Given the description of an element on the screen output the (x, y) to click on. 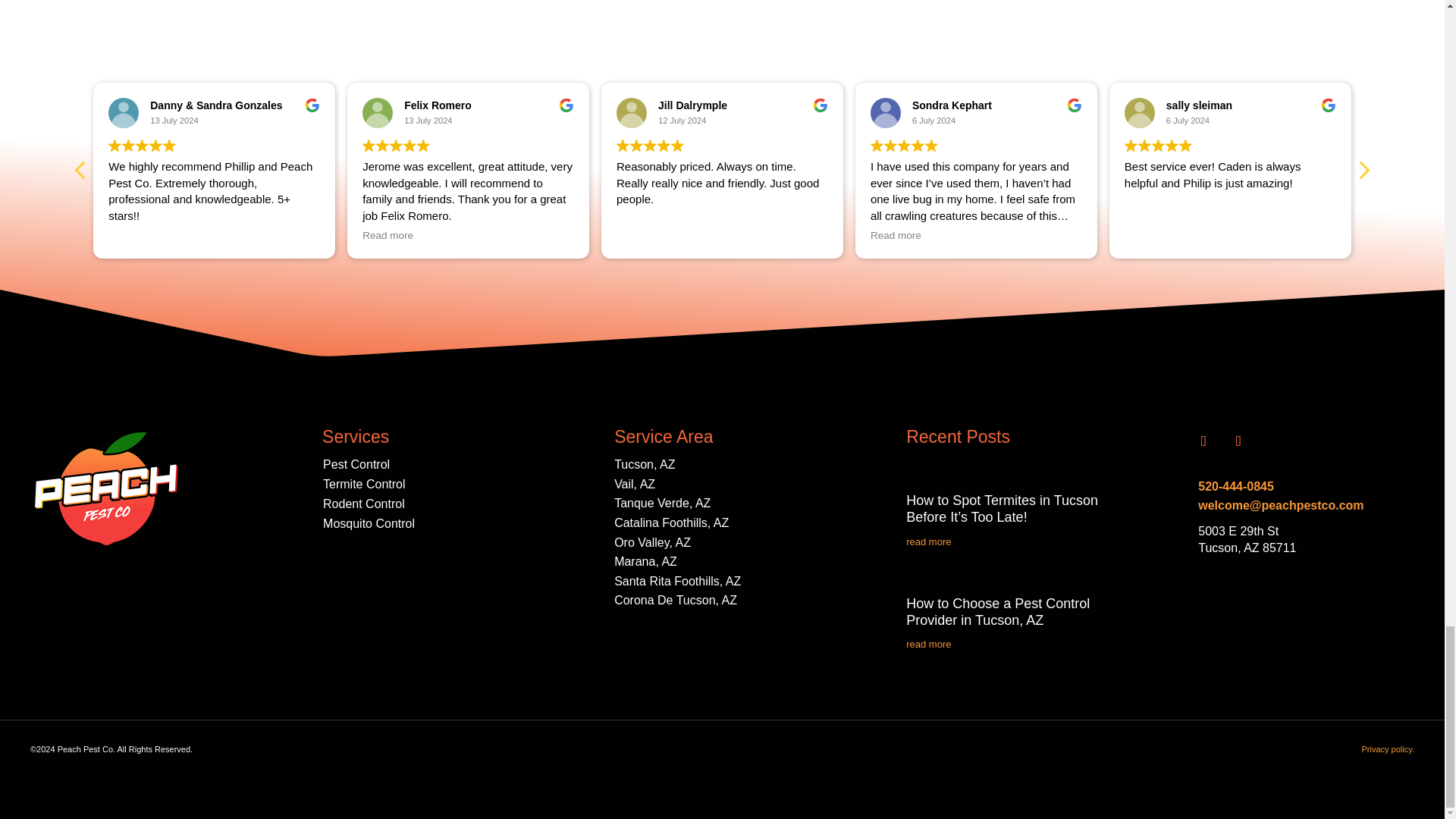
PeachPestCo2White-web (106, 487)
Termite Control (363, 483)
Follow on Instagram (1238, 440)
Rodent Control (363, 503)
Pest Control (356, 463)
read more (1013, 541)
Follow on Facebook (1203, 440)
How to Choose a Pest Control Provider in Tucson, AZ (997, 612)
Mosquito Control (368, 522)
